Given the description of an element on the screen output the (x, y) to click on. 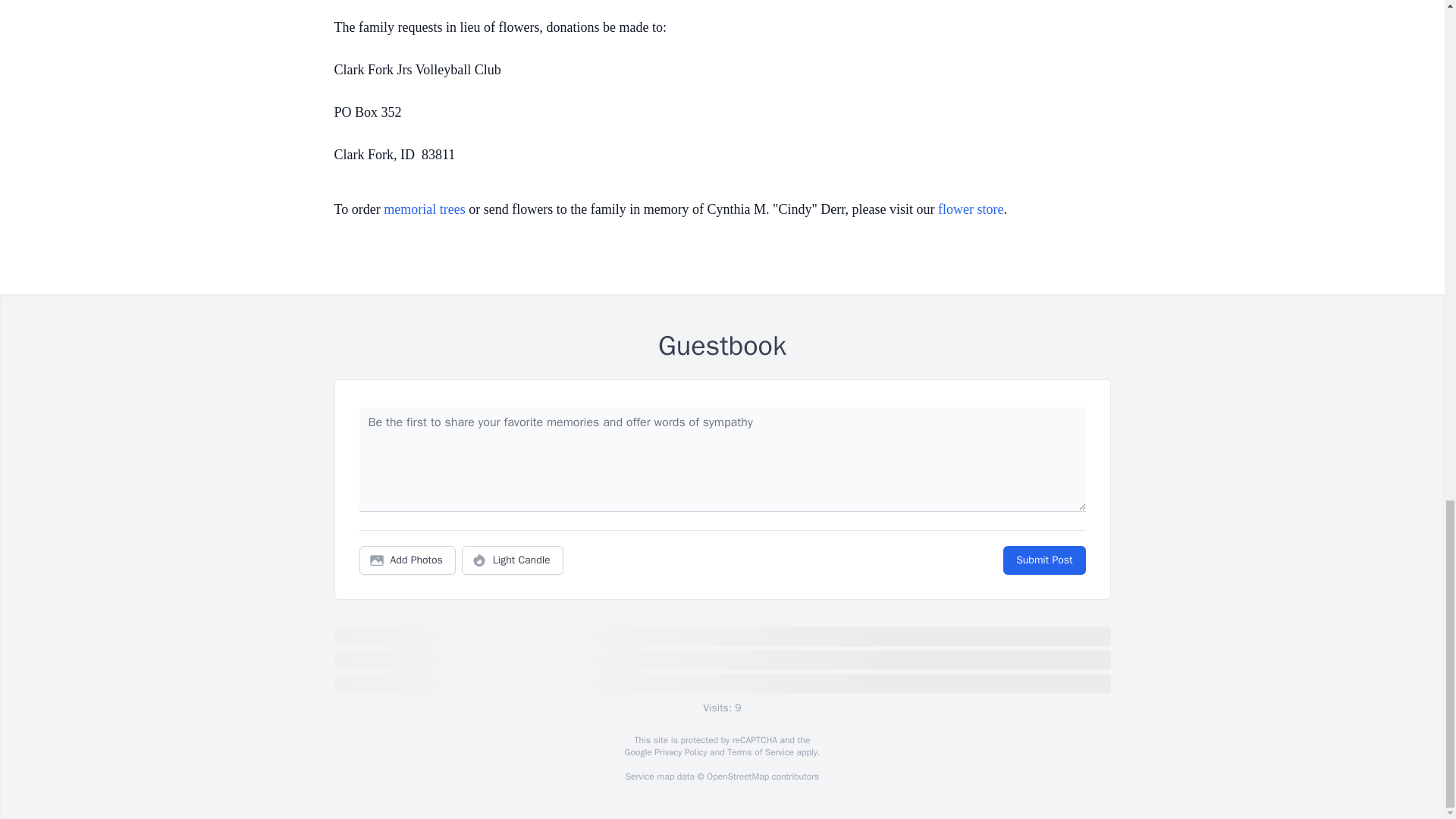
Terms of Service (759, 752)
Submit Post (1043, 560)
Privacy Policy (679, 752)
memorial trees (424, 209)
Add Photos (407, 560)
OpenStreetMap (737, 776)
Light Candle (512, 560)
flower store (970, 209)
